Given the description of an element on the screen output the (x, y) to click on. 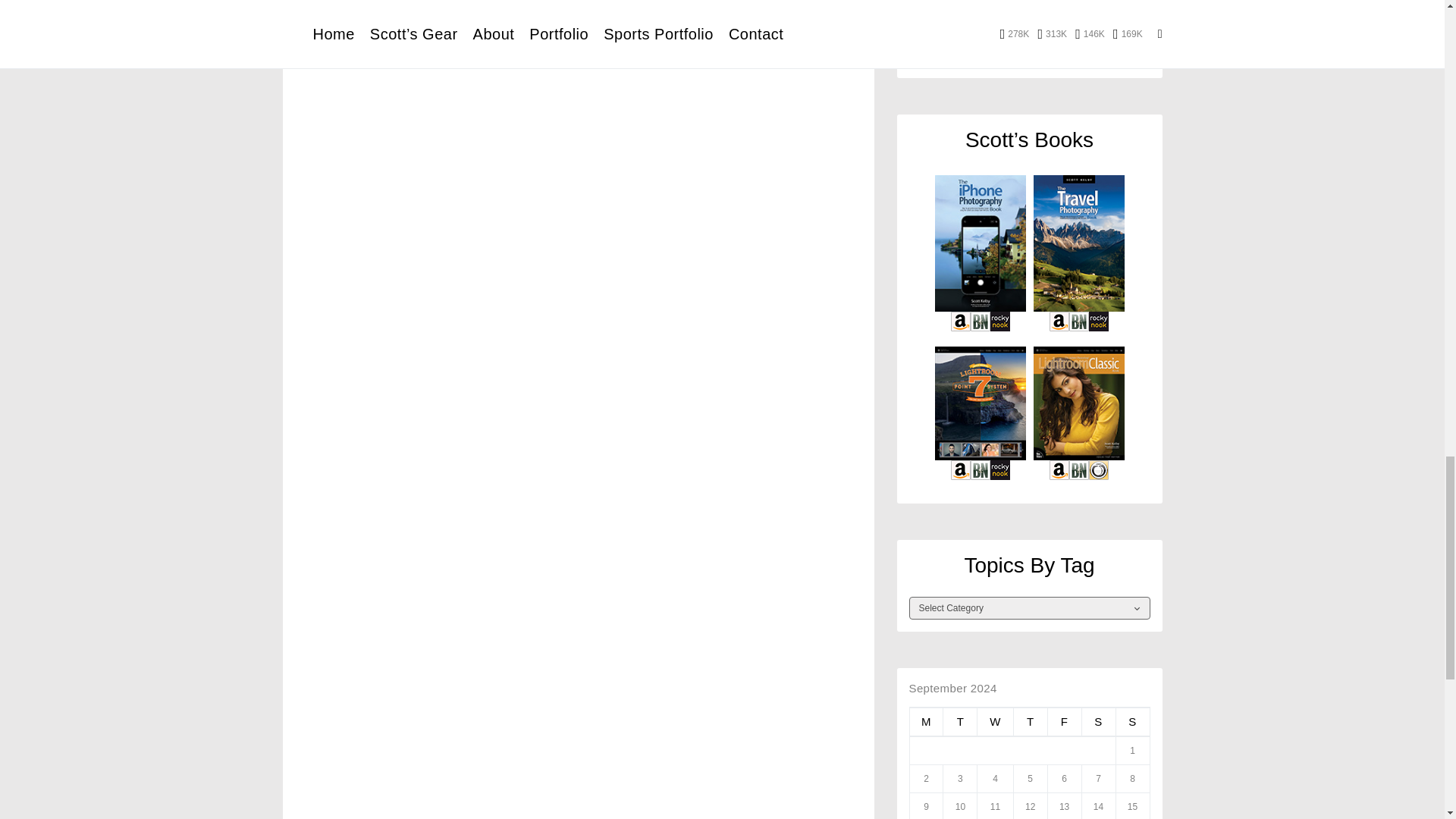
Tuesday (959, 721)
Sunday (1132, 721)
Saturday (1098, 721)
Friday (1063, 721)
Thursday (1029, 721)
Wednesday (994, 721)
Monday (925, 721)
